Given the description of an element on the screen output the (x, y) to click on. 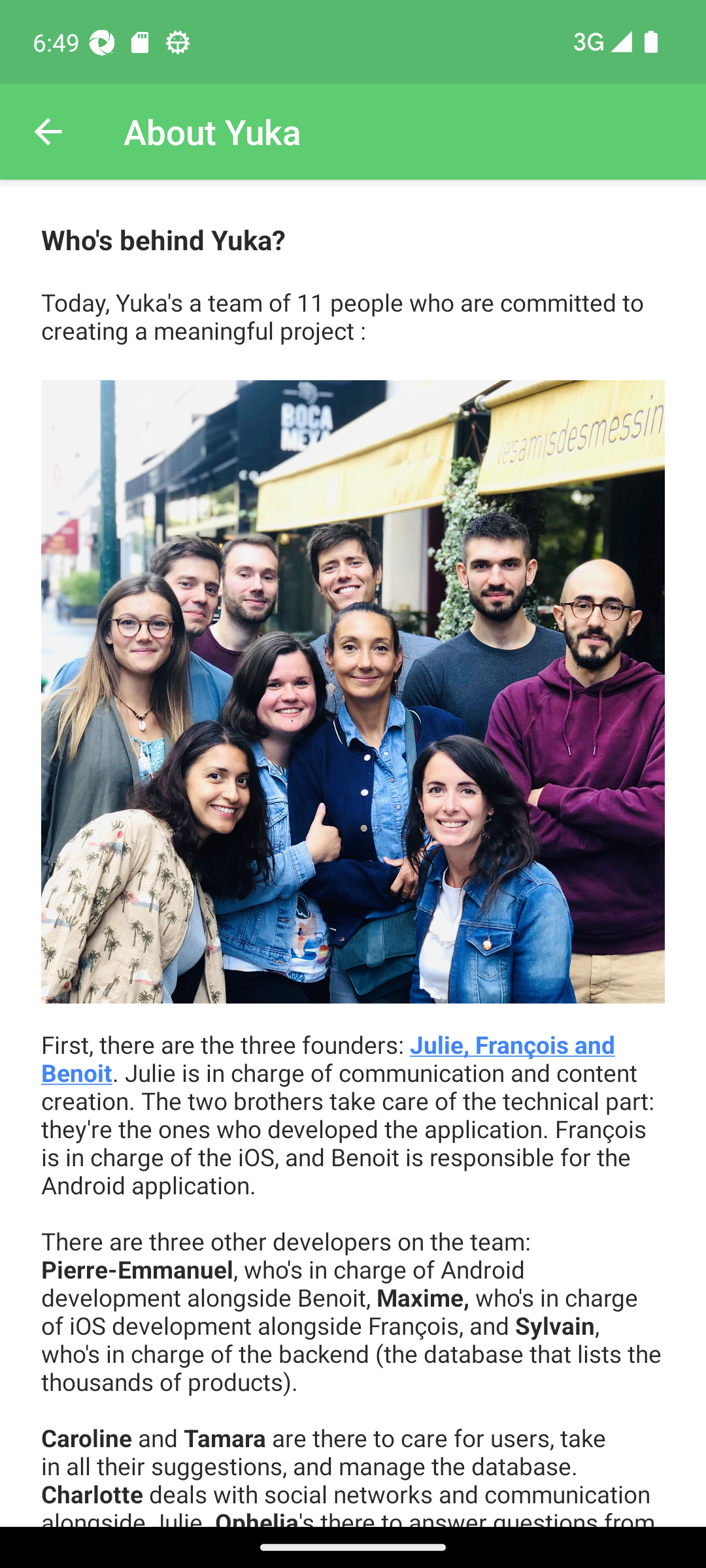
Navigate up (48, 131)
